Given the description of an element on the screen output the (x, y) to click on. 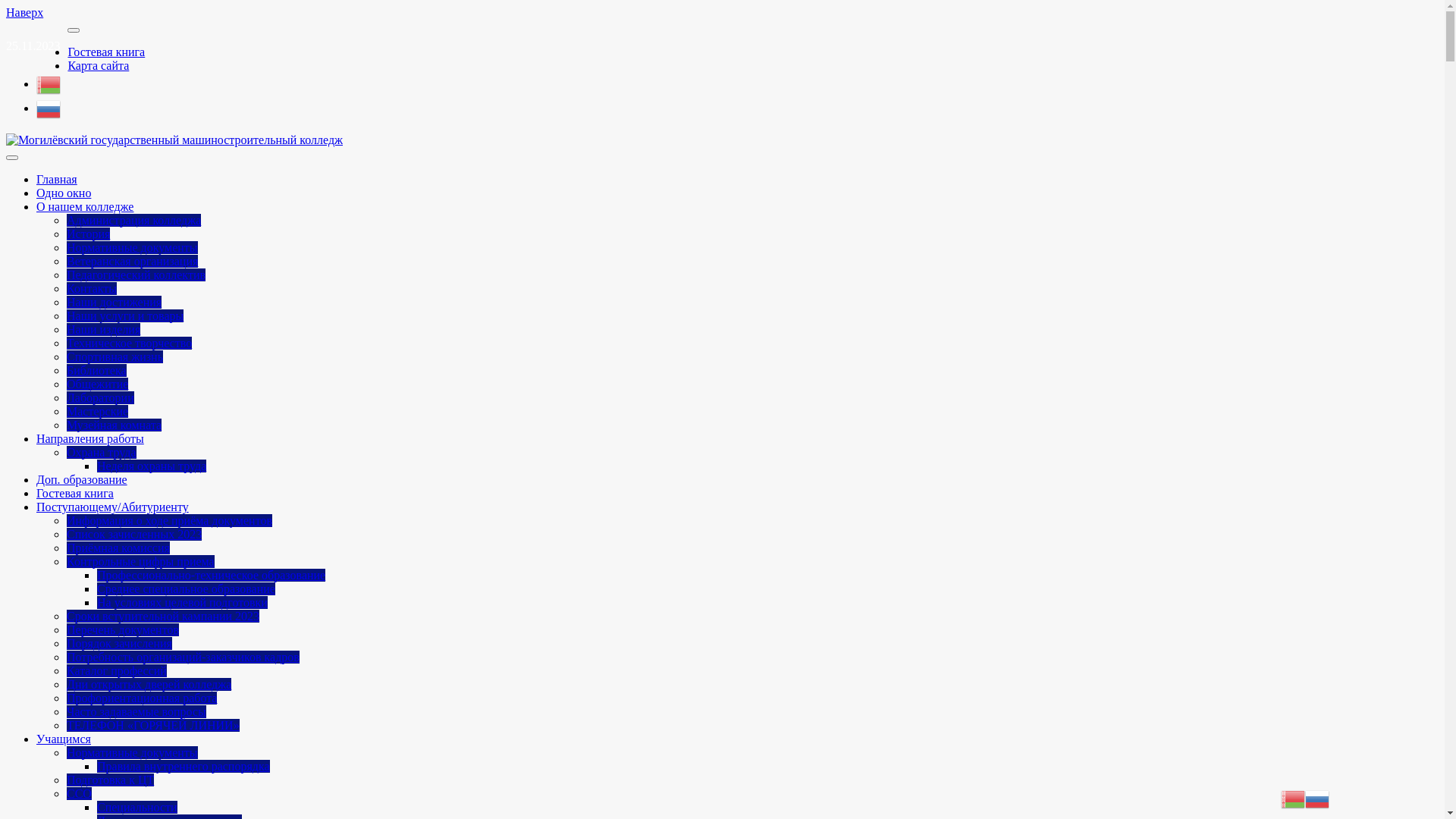
Toggle navigation Element type: text (73, 30)
Toggle navigation Element type: text (12, 157)
